Given the description of an element on the screen output the (x, y) to click on. 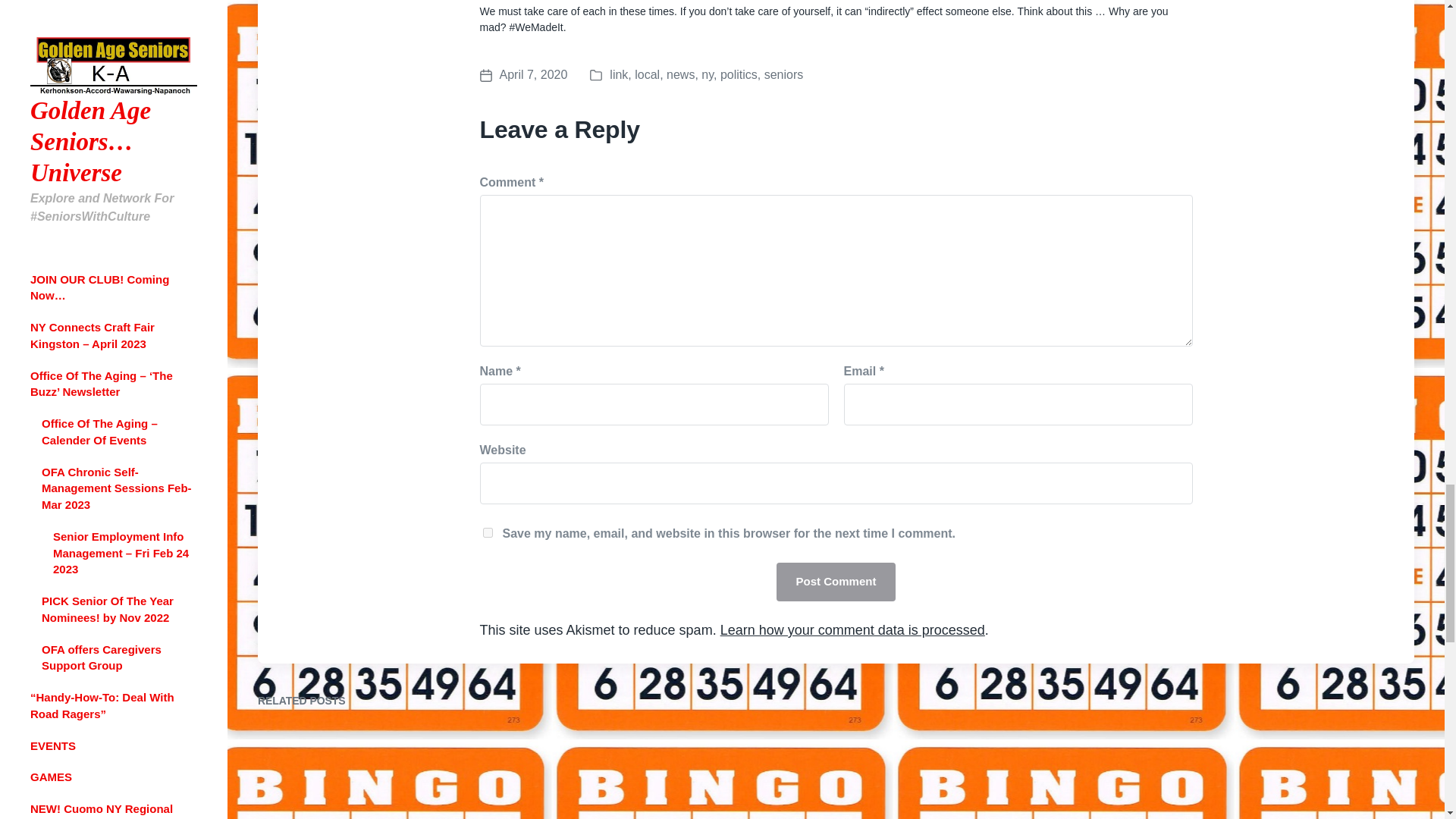
Corona Virus creeps through New York (523, 75)
yes (486, 532)
Post Comment (836, 581)
